Given the description of an element on the screen output the (x, y) to click on. 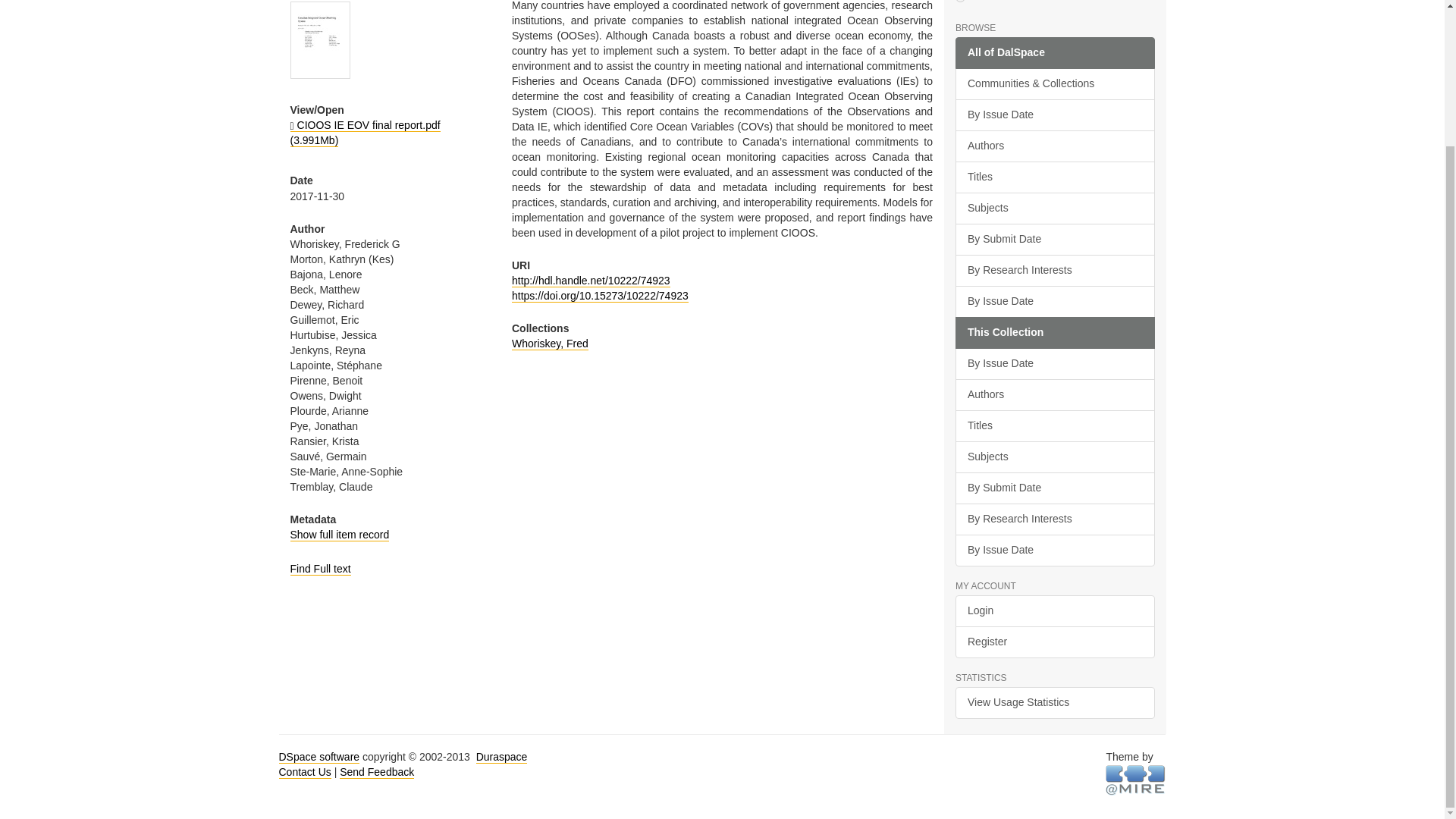
Titles (1054, 177)
Whoriskey, Fred (550, 343)
Find Full text (319, 568)
By Submit Date (1054, 239)
Subjects (1054, 208)
Show full item record (338, 534)
By Issue Date (1054, 115)
This Collection (1054, 332)
All of DalSpace (1054, 52)
By Issue Date (1054, 301)
